Given the description of an element on the screen output the (x, y) to click on. 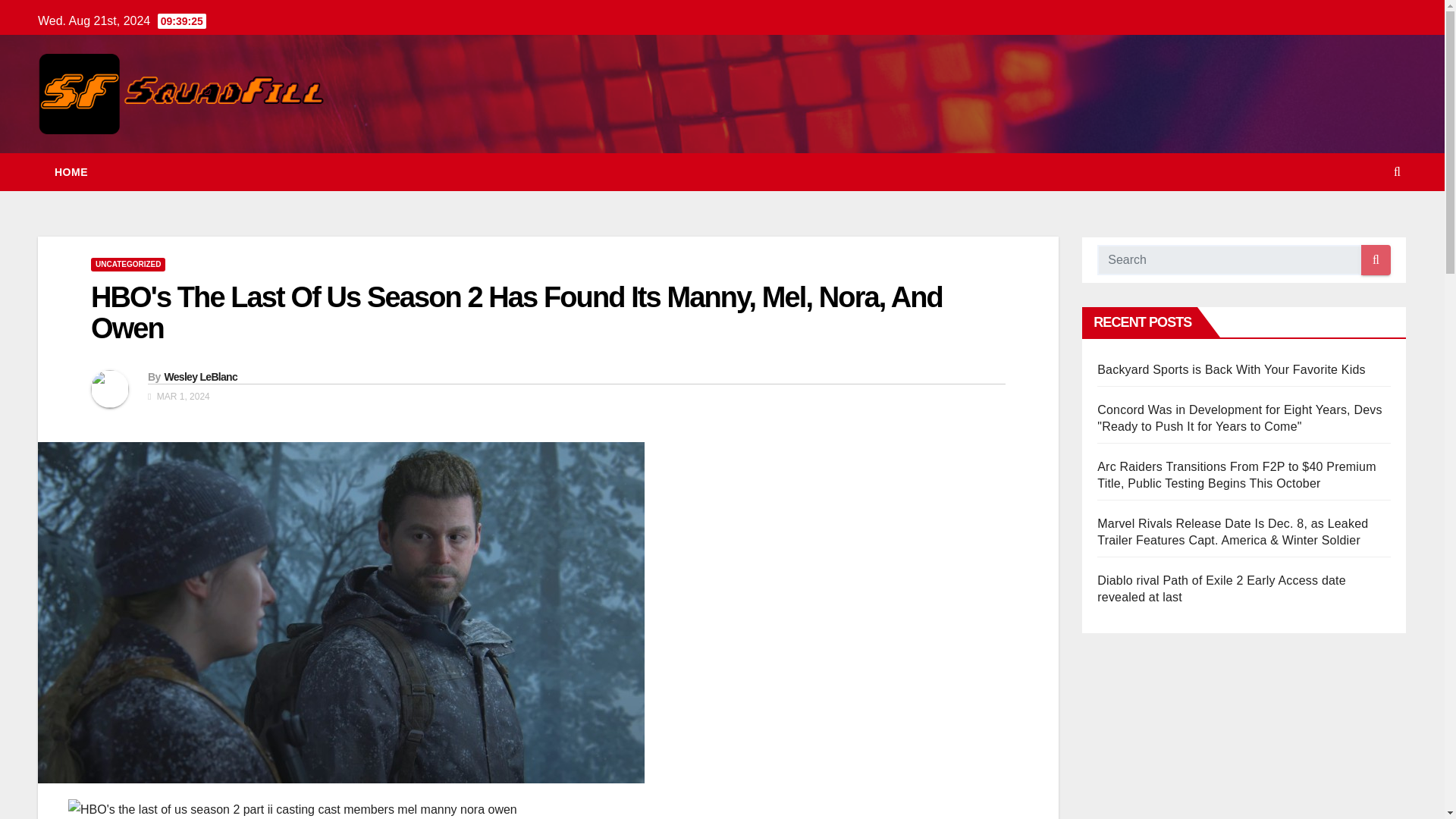
Home (70, 171)
Wesley LeBlanc (200, 377)
UNCATEGORIZED (127, 264)
HOME (70, 171)
